Given the description of an element on the screen output the (x, y) to click on. 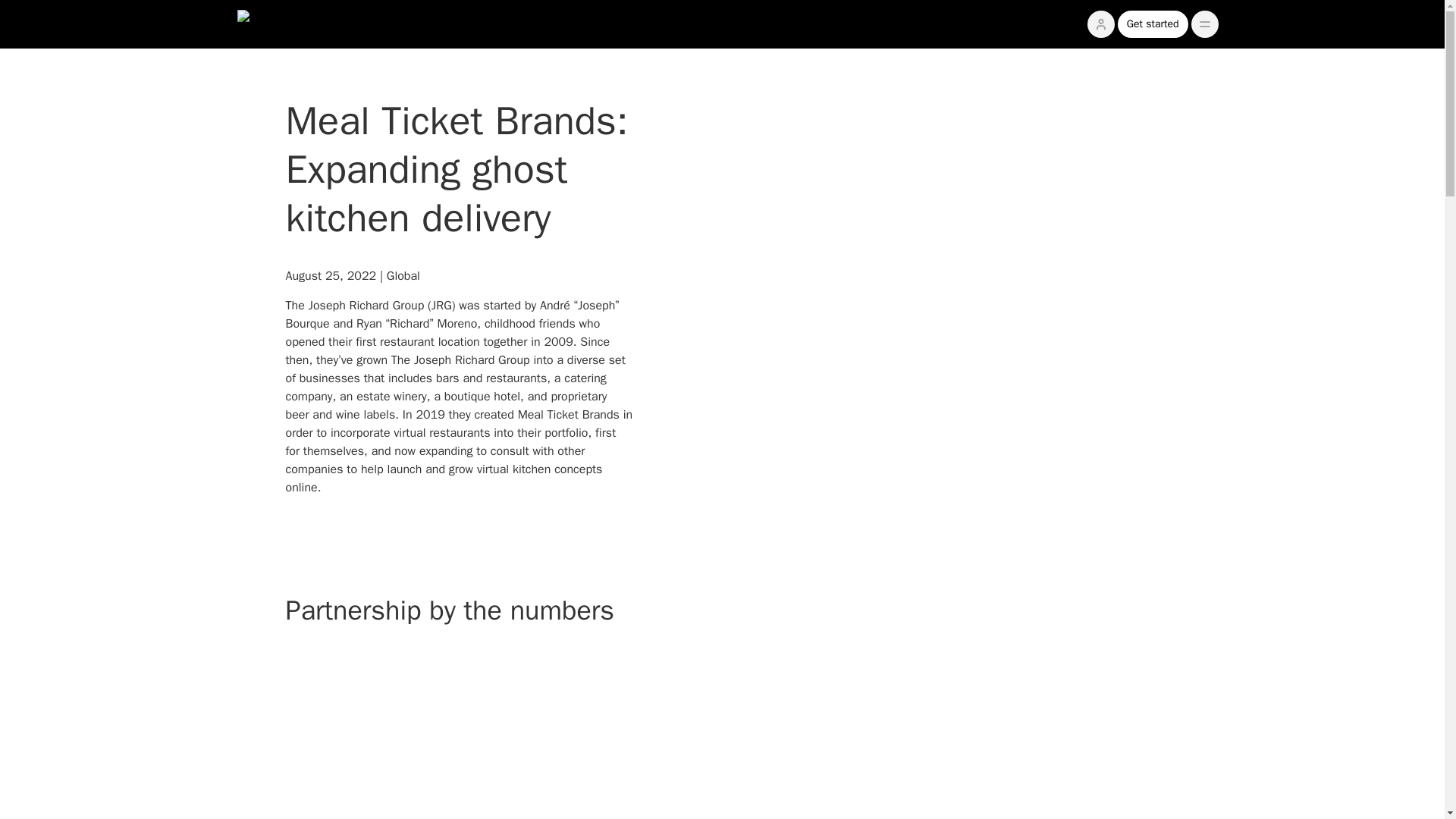
Get started (1153, 23)
, (1203, 24)
, (1204, 23)
